Given the description of an element on the screen output the (x, y) to click on. 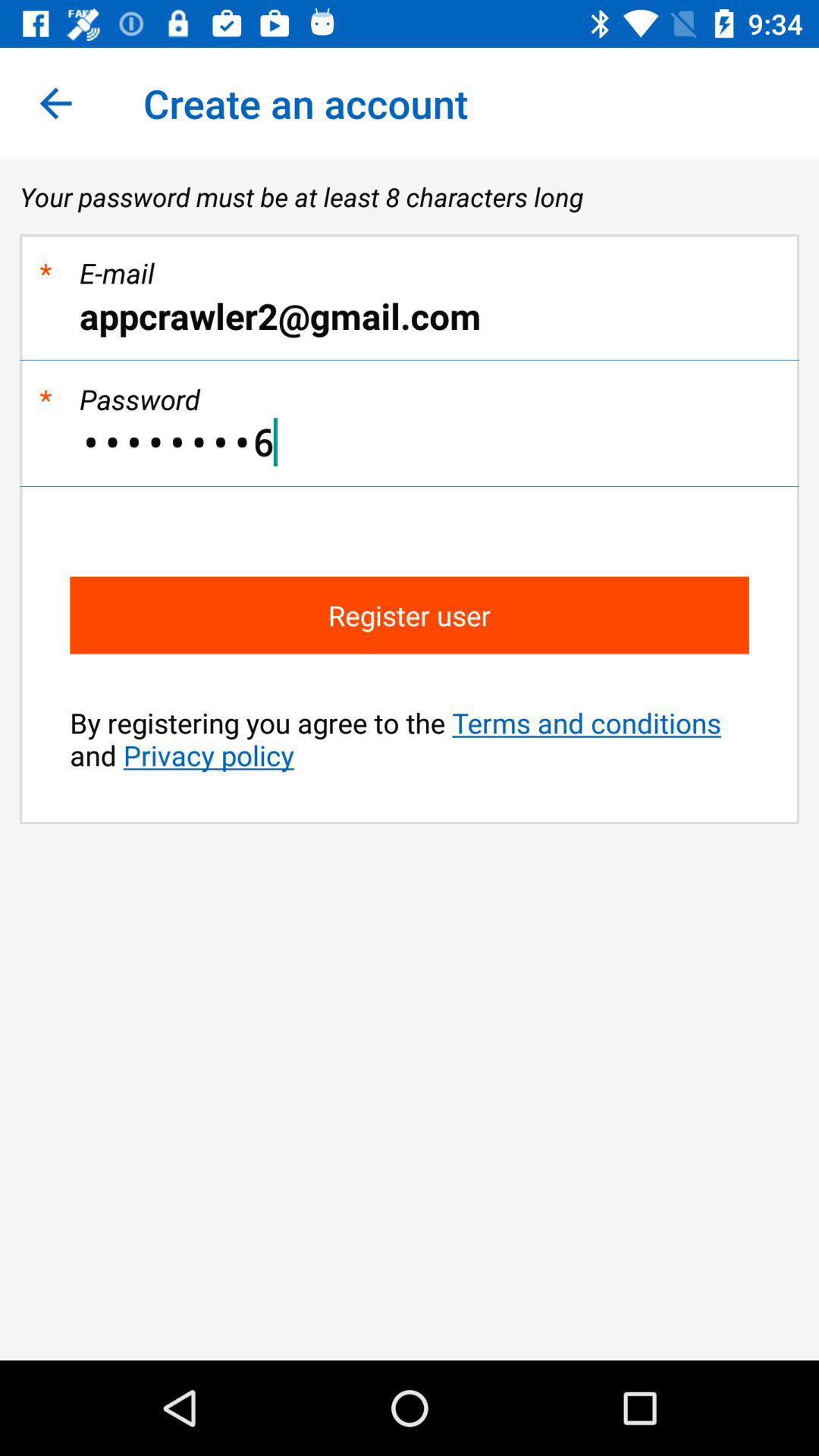
turn on the item below the register user (409, 739)
